Given the description of an element on the screen output the (x, y) to click on. 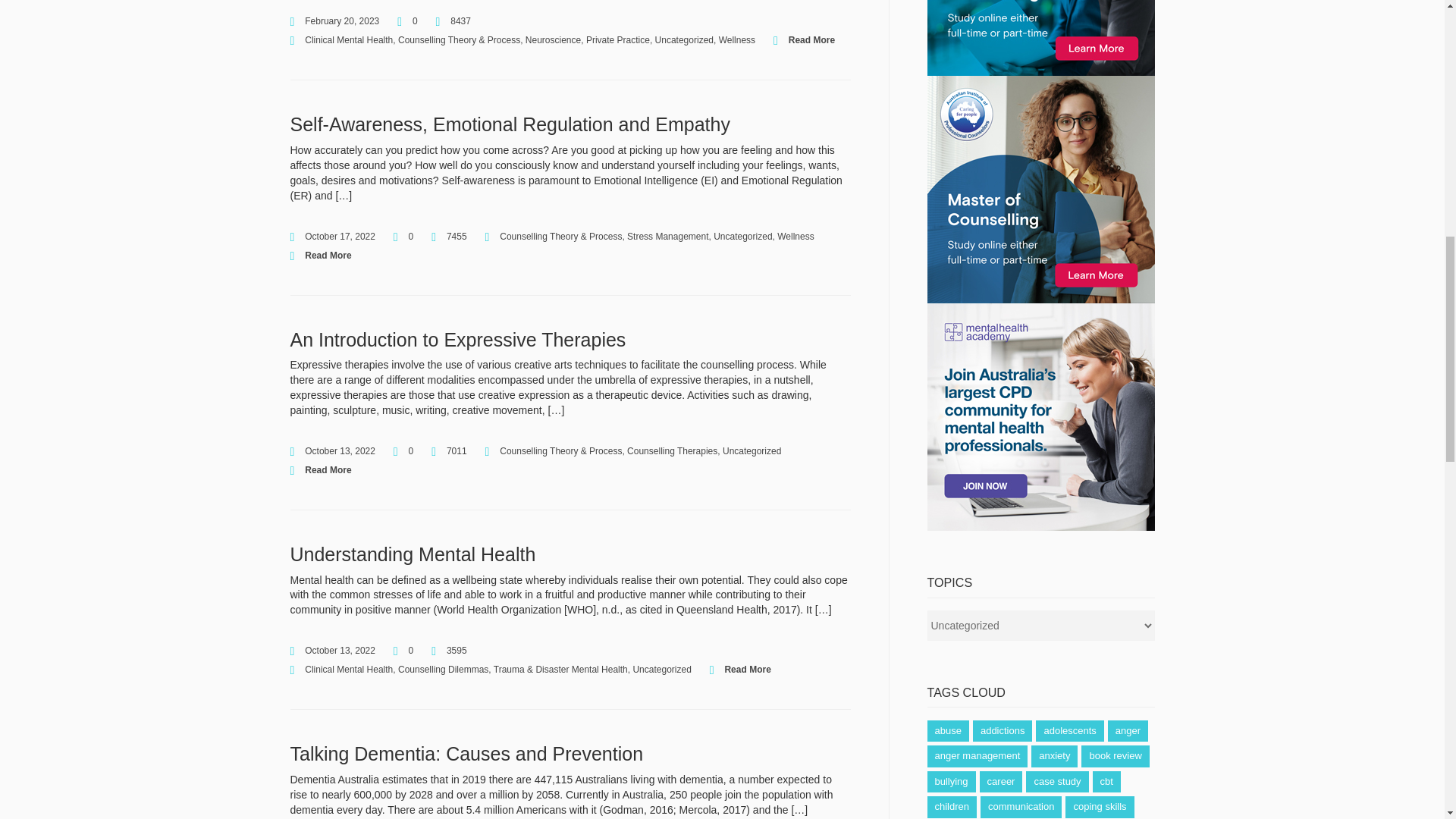
Permanent Link to An Introduction to Expressive Therapies (457, 339)
Permanent Link to Understanding Mental Health (412, 554)
Permanent Link to Talking Dementia: Causes and Prevention (466, 753)
